Given the description of an element on the screen output the (x, y) to click on. 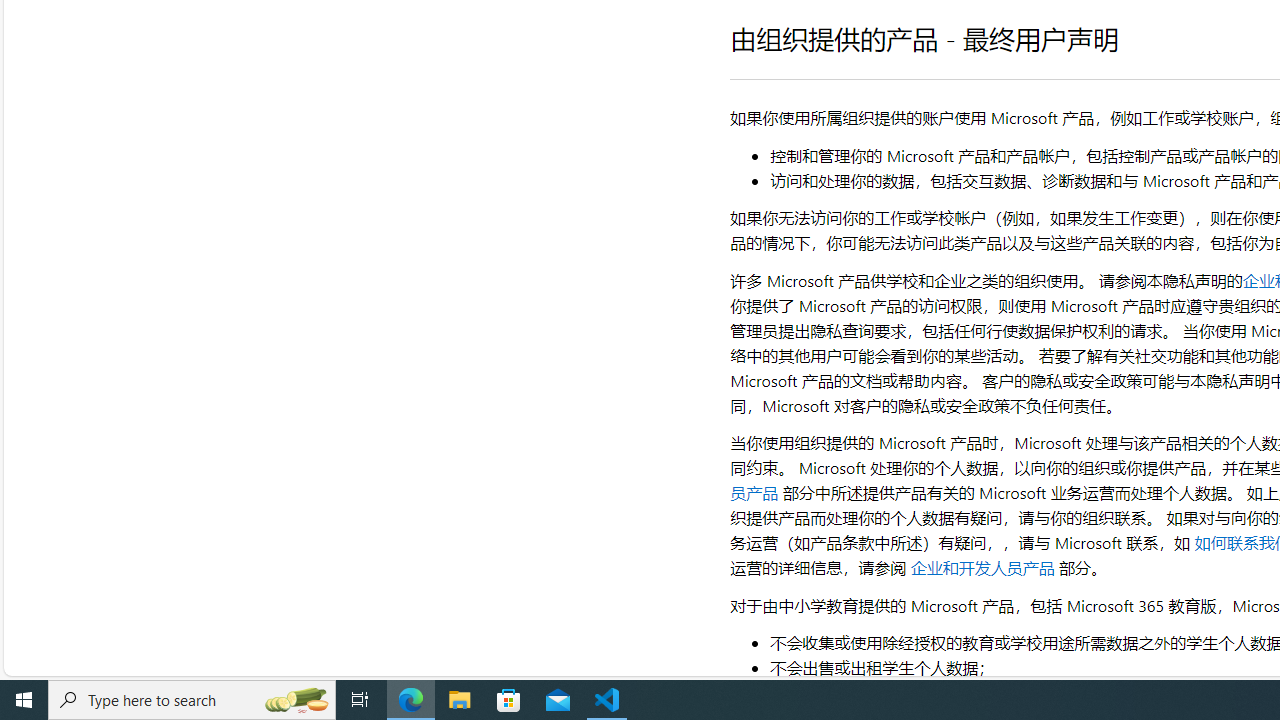
Start (24, 699)
Visual Studio Code - 1 running window (607, 699)
Microsoft Store (509, 699)
Task View (359, 699)
Microsoft Edge - 1 running window (411, 699)
Search highlights icon opens search home window (295, 699)
Type here to search (191, 699)
File Explorer (460, 699)
